Given the description of an element on the screen output the (x, y) to click on. 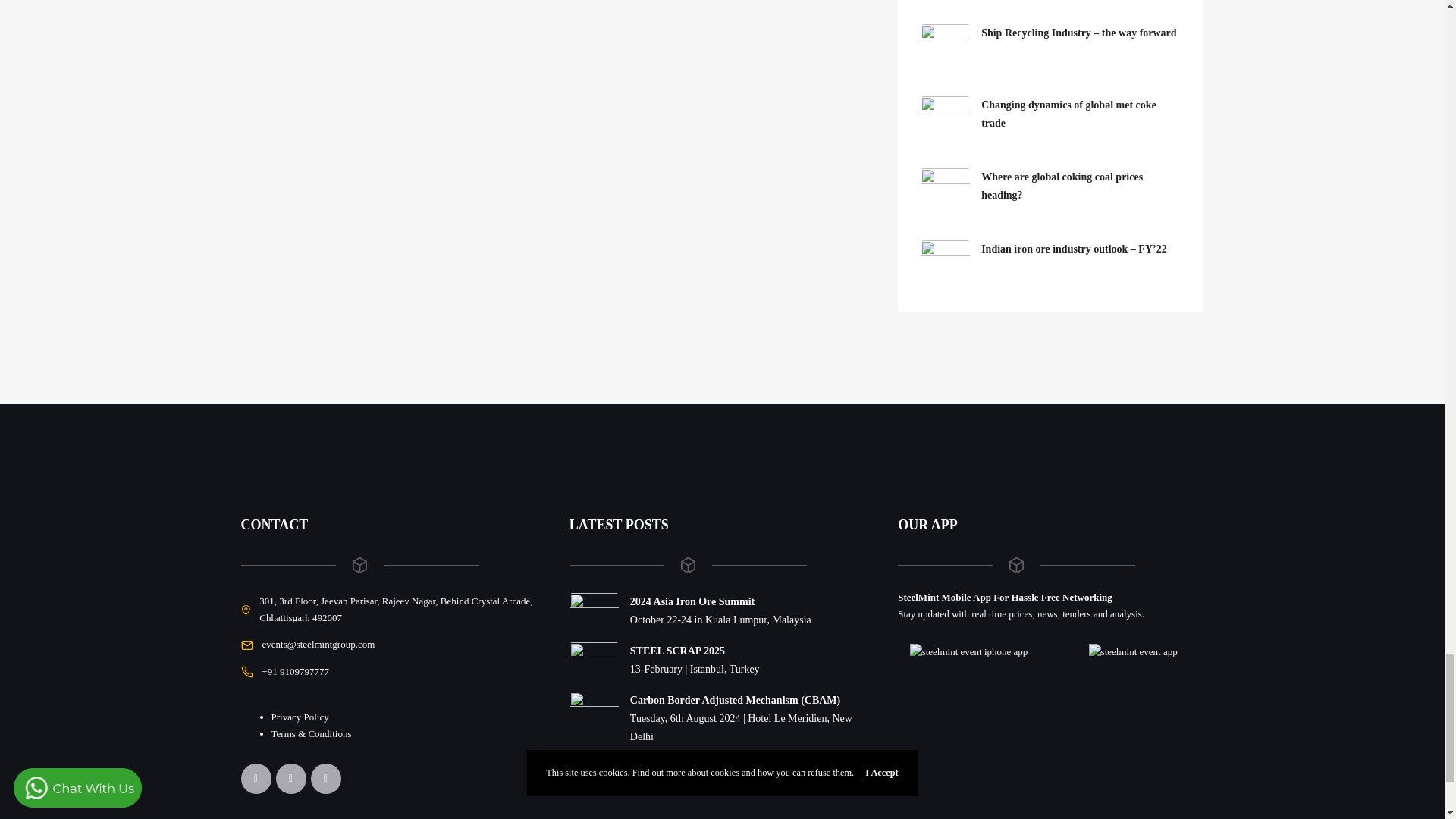
iphoneapp (968, 651)
windowsapp (1133, 651)
